Given the description of an element on the screen output the (x, y) to click on. 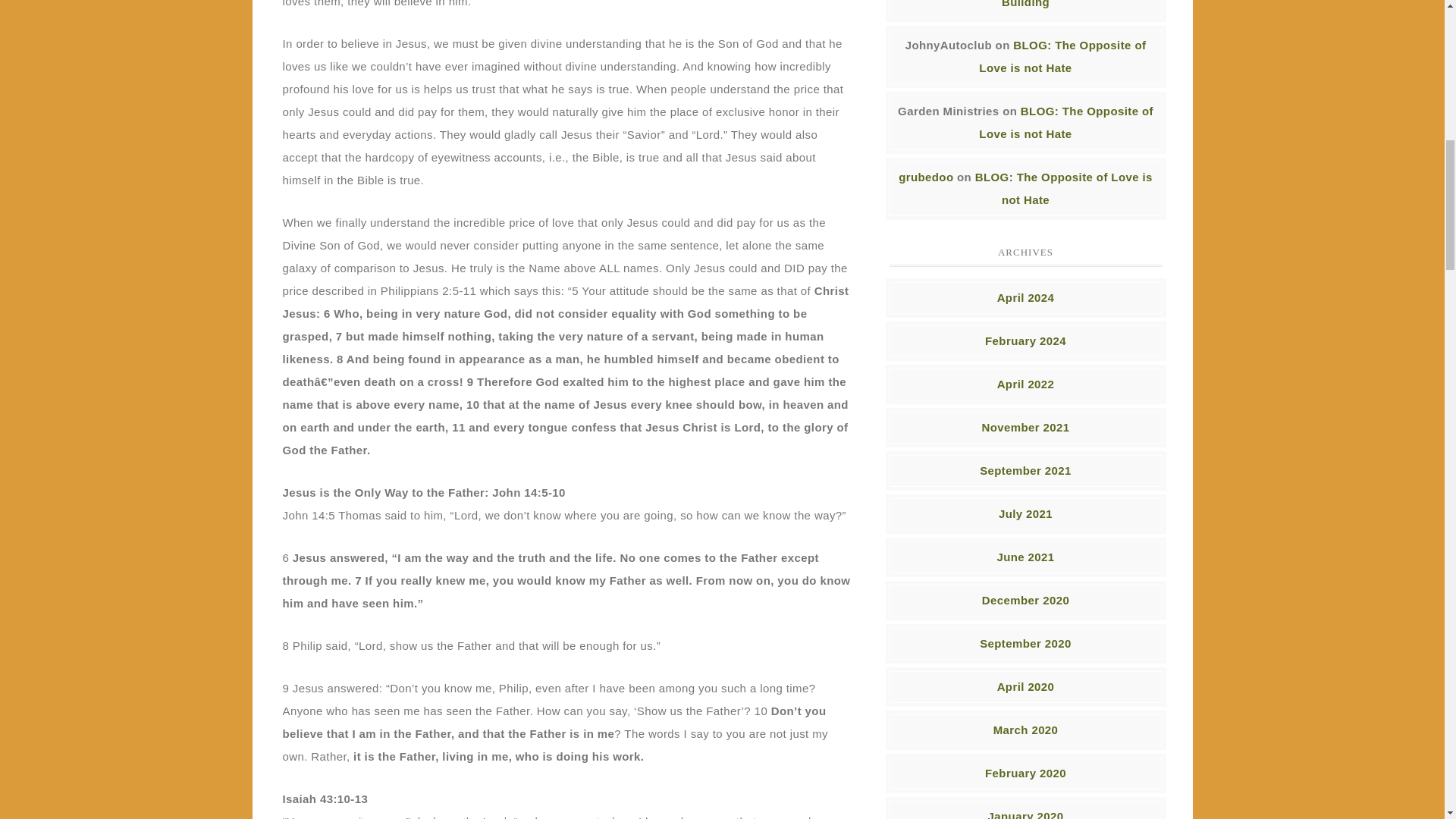
April 2024 (1025, 297)
February 2024 (1025, 339)
grubedoo (925, 176)
BLOG: The Opposite of Love is not Hate (1064, 188)
September 2021 (1025, 470)
BLOG: The Opposite of Love is not Hate (1065, 122)
April 2022 (1025, 383)
BLOG: Relationship Building (1069, 4)
BLOG: The Opposite of Love is not Hate (1061, 56)
November 2021 (1024, 426)
